Given the description of an element on the screen output the (x, y) to click on. 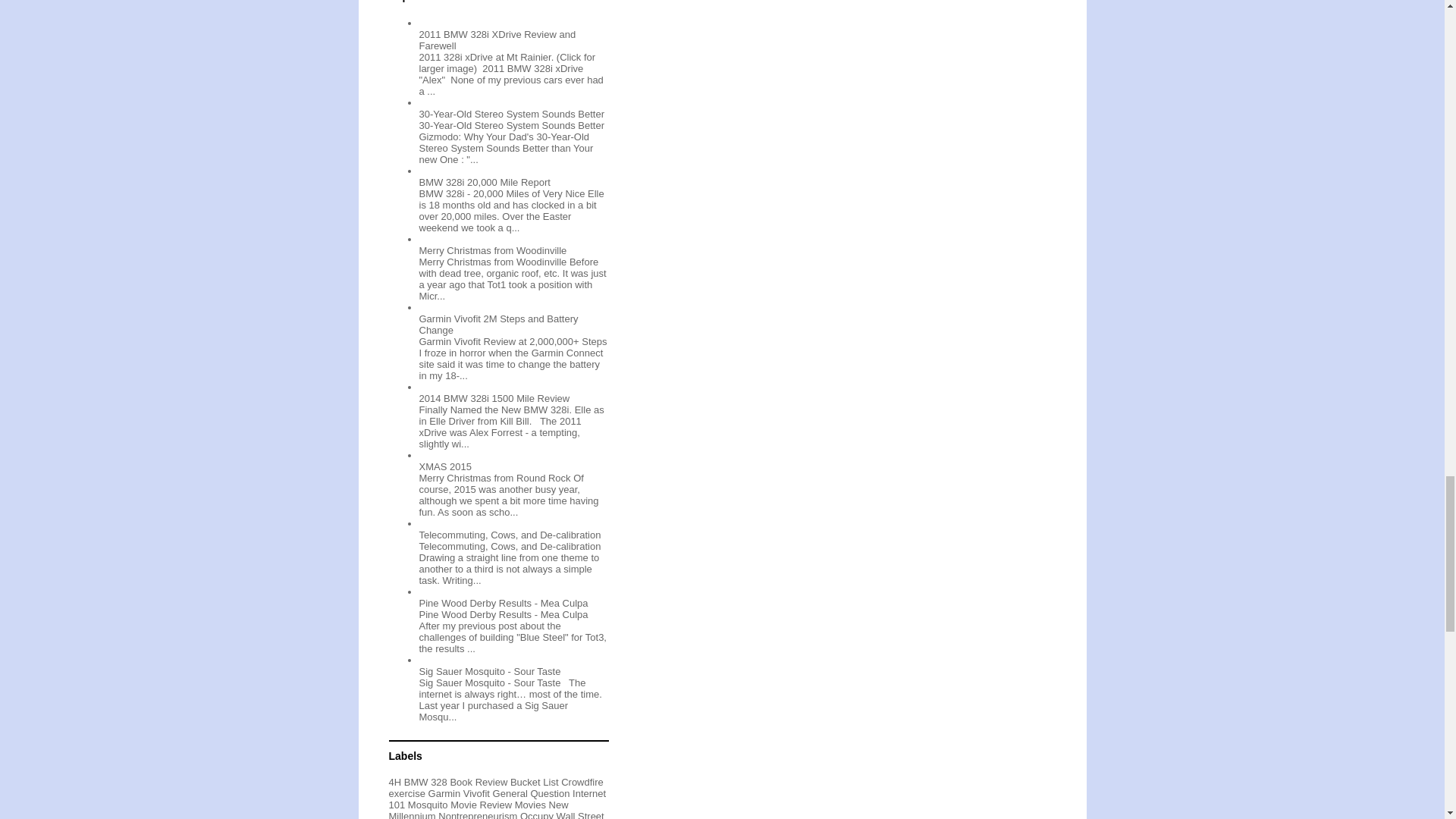
Garmin Vivofit 2M Steps and Battery Change (498, 323)
Telecommuting, Cows, and De-calibration (509, 534)
XMAS 2015 (444, 466)
30-Year-Old Stereo System Sounds Better (511, 113)
2011 BMW 328i XDrive Review and Farewell (497, 39)
2014 BMW 328i 1500 Mile Review (494, 398)
Merry Christmas from Woodinville (492, 250)
BMW 328i 20,000 Mile Report (484, 182)
